Given the description of an element on the screen output the (x, y) to click on. 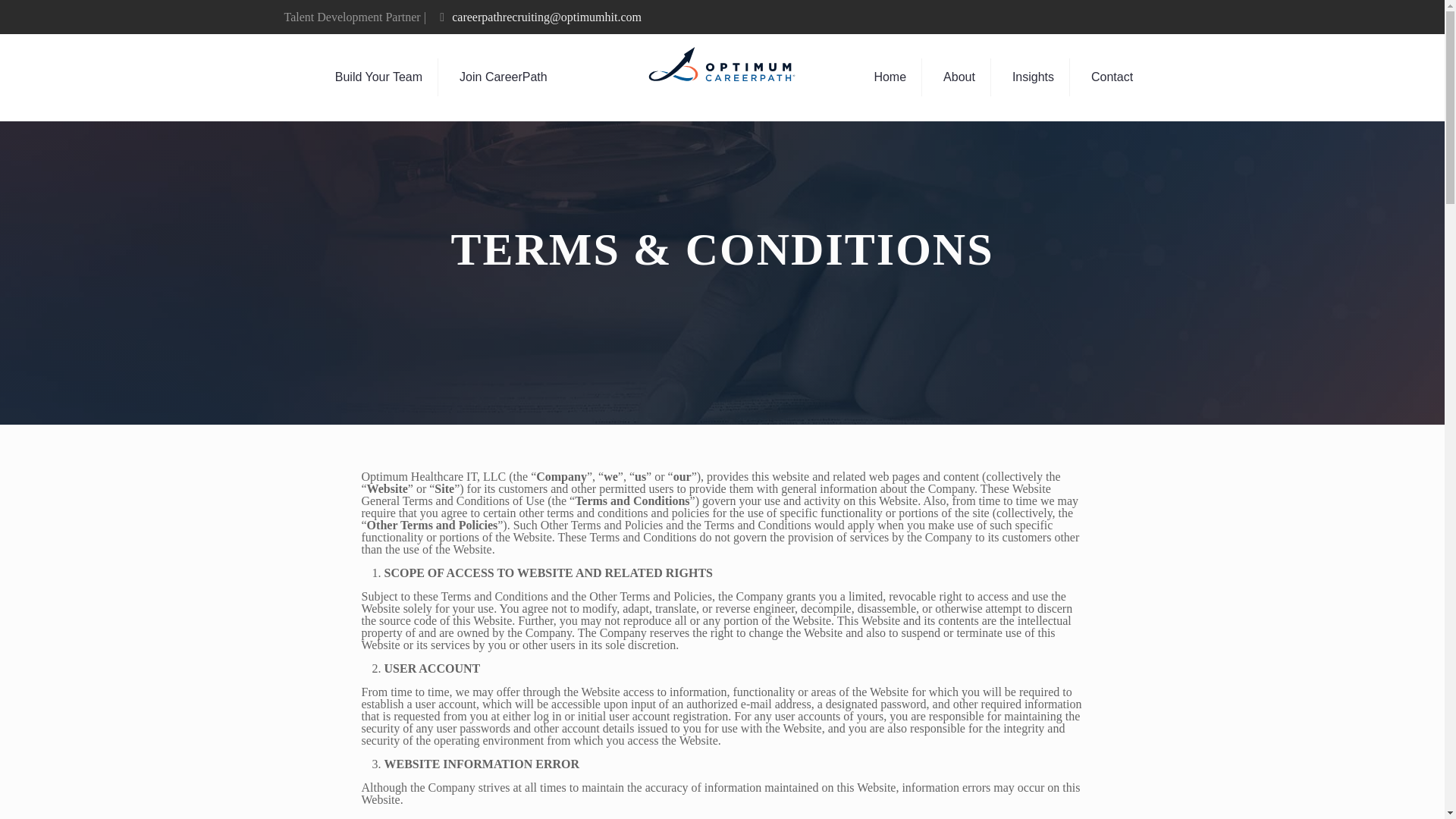
Optimum Careerpath (721, 68)
Contact (1111, 77)
Insights (1033, 77)
Home (890, 77)
About (959, 77)
Build Your Team (379, 77)
Join CareerPath (503, 77)
